Given the description of an element on the screen output the (x, y) to click on. 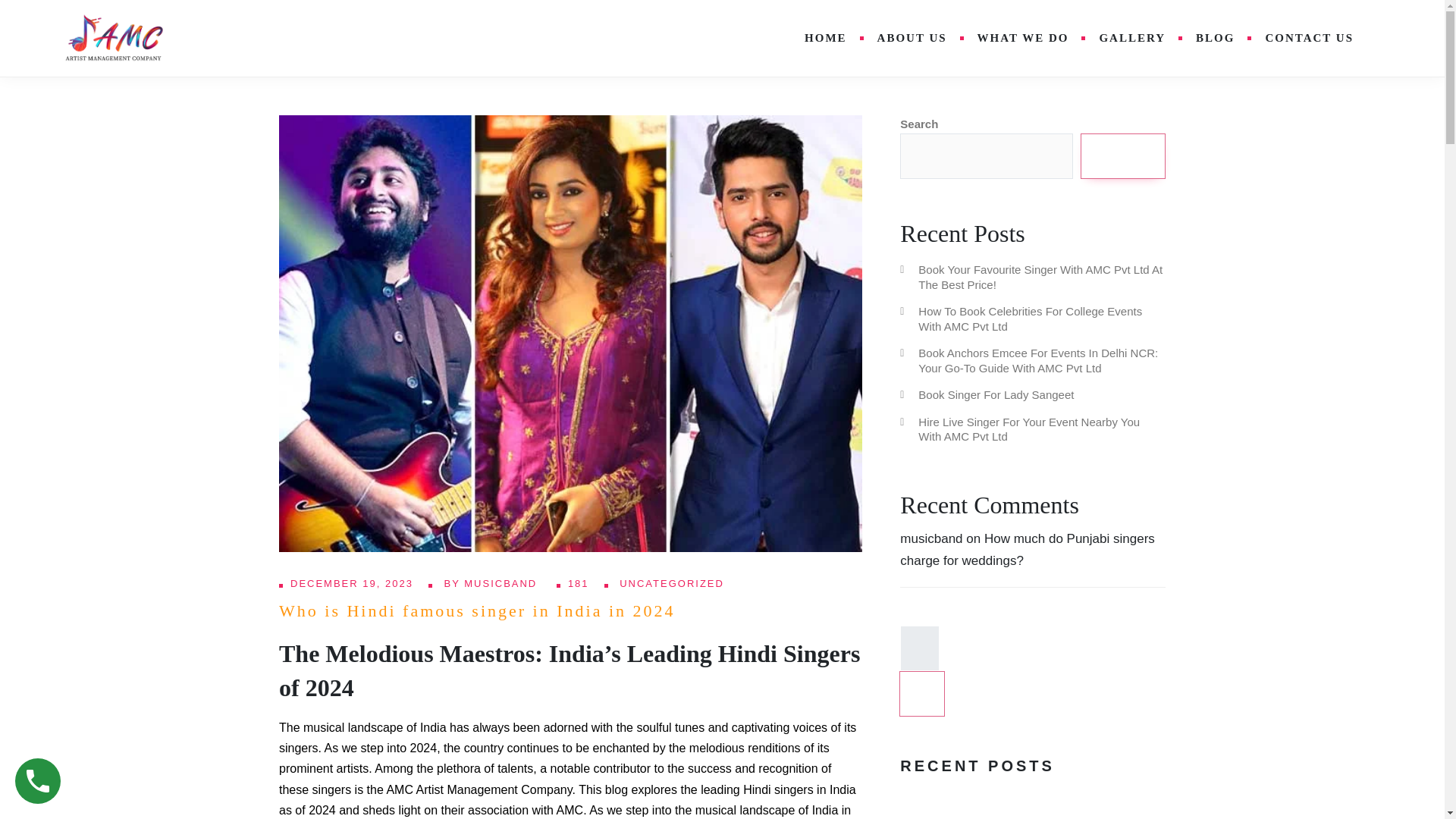
HOME (825, 38)
WHAT WE DO (1023, 38)
ABOUT US (911, 38)
CONTACT US (1308, 38)
MUSICBAND (502, 583)
BLOG (1214, 38)
GALLERY (1131, 38)
AMC Pvt Ltd (114, 38)
